Given the description of an element on the screen output the (x, y) to click on. 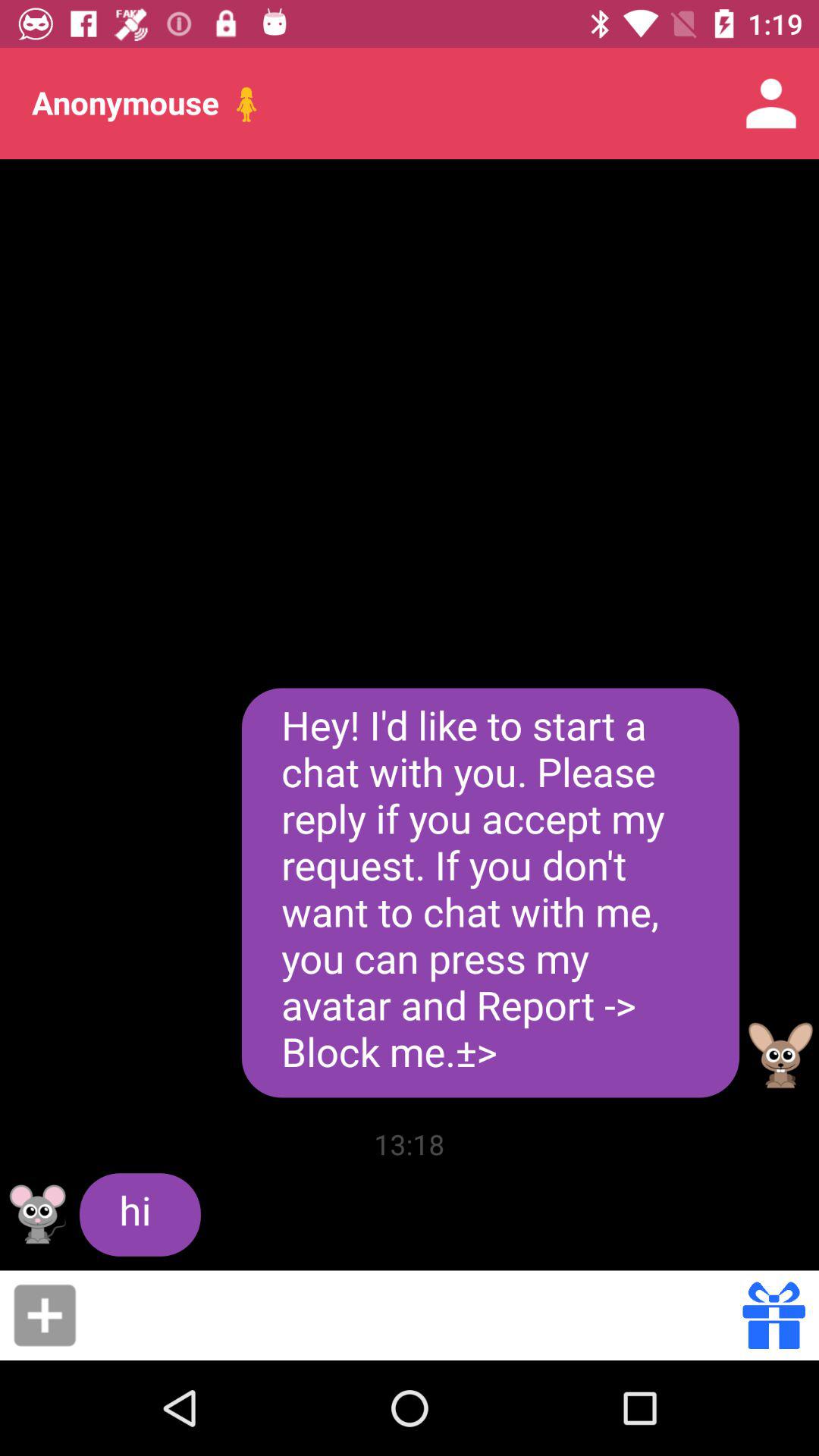
select profile (38, 1214)
